Given the description of an element on the screen output the (x, y) to click on. 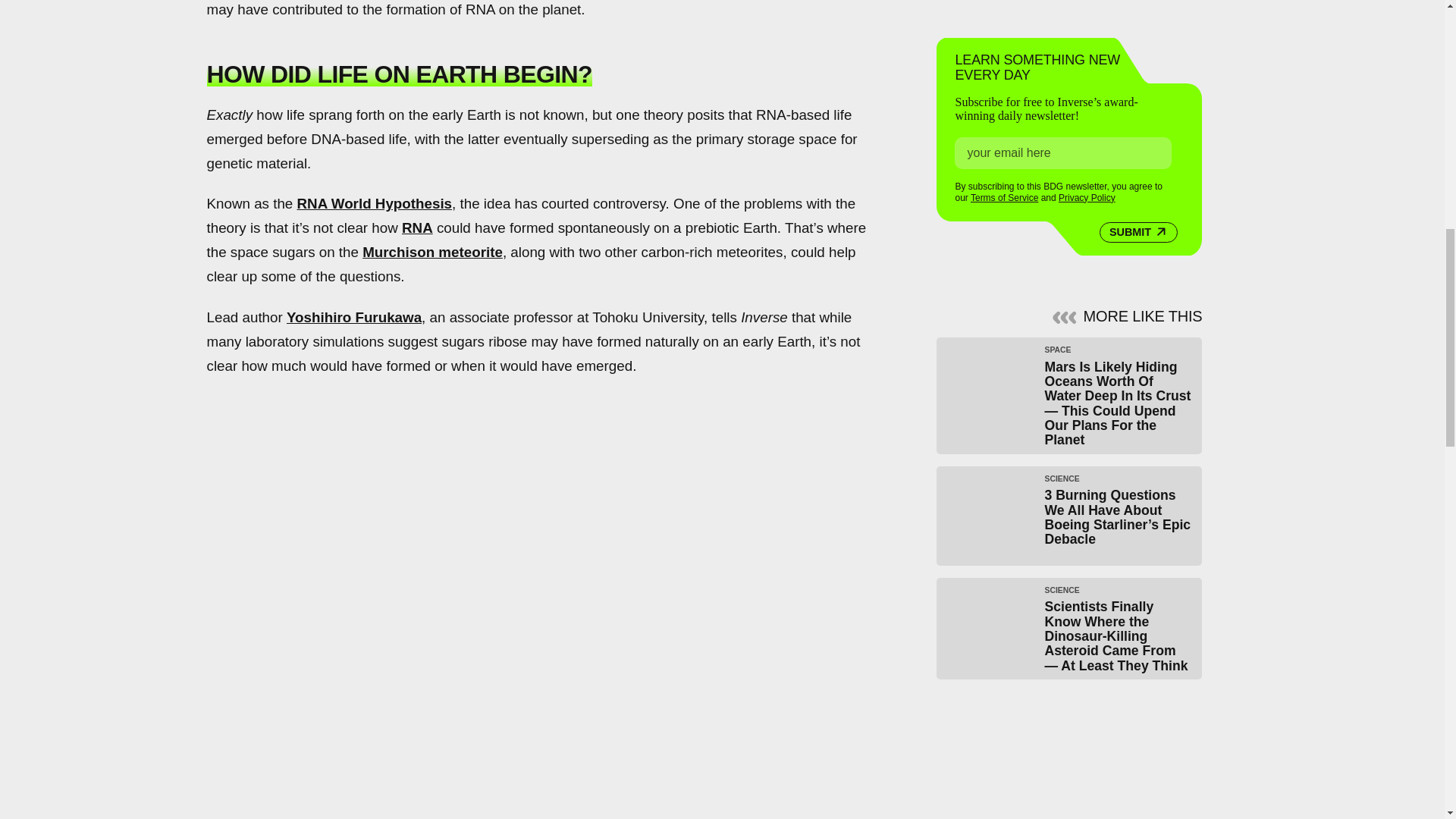
Privacy Policy (1086, 197)
RNA (416, 227)
Terms of Service (1004, 197)
SUBMIT (1138, 232)
RNA World Hypothesis (374, 203)
Yoshihiro Furukawa (354, 317)
Murchison meteorite (432, 252)
